Given the description of an element on the screen output the (x, y) to click on. 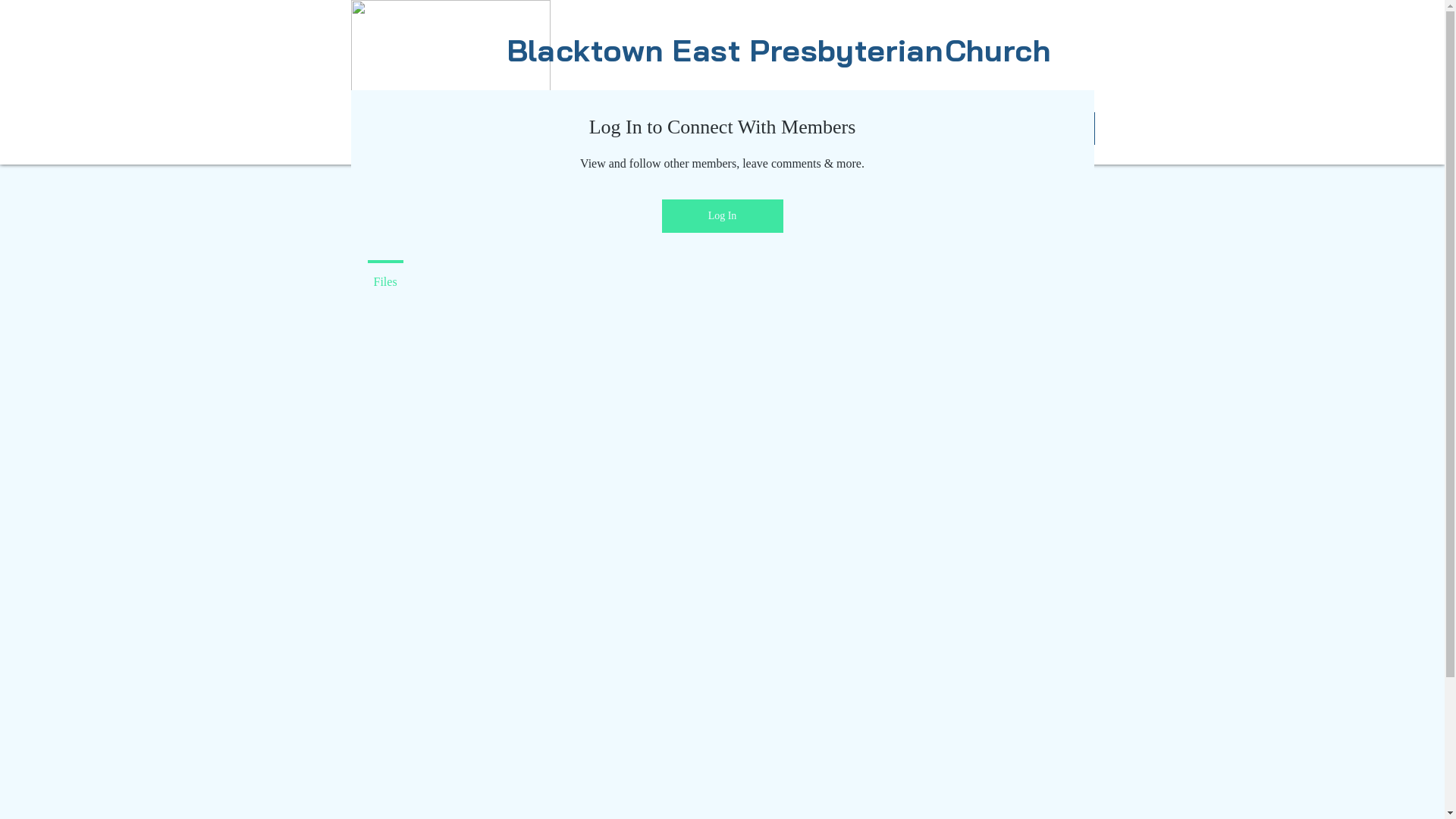
I'm New Element type: text (465, 128)
Files Element type: text (384, 275)
Giving Element type: text (765, 128)
Home Element type: text (386, 128)
Log In Element type: text (721, 215)
AdobeStock_419801160.jpeg Element type: hover (449, 56)
Contact Us Element type: text (852, 128)
